Given the description of an element on the screen output the (x, y) to click on. 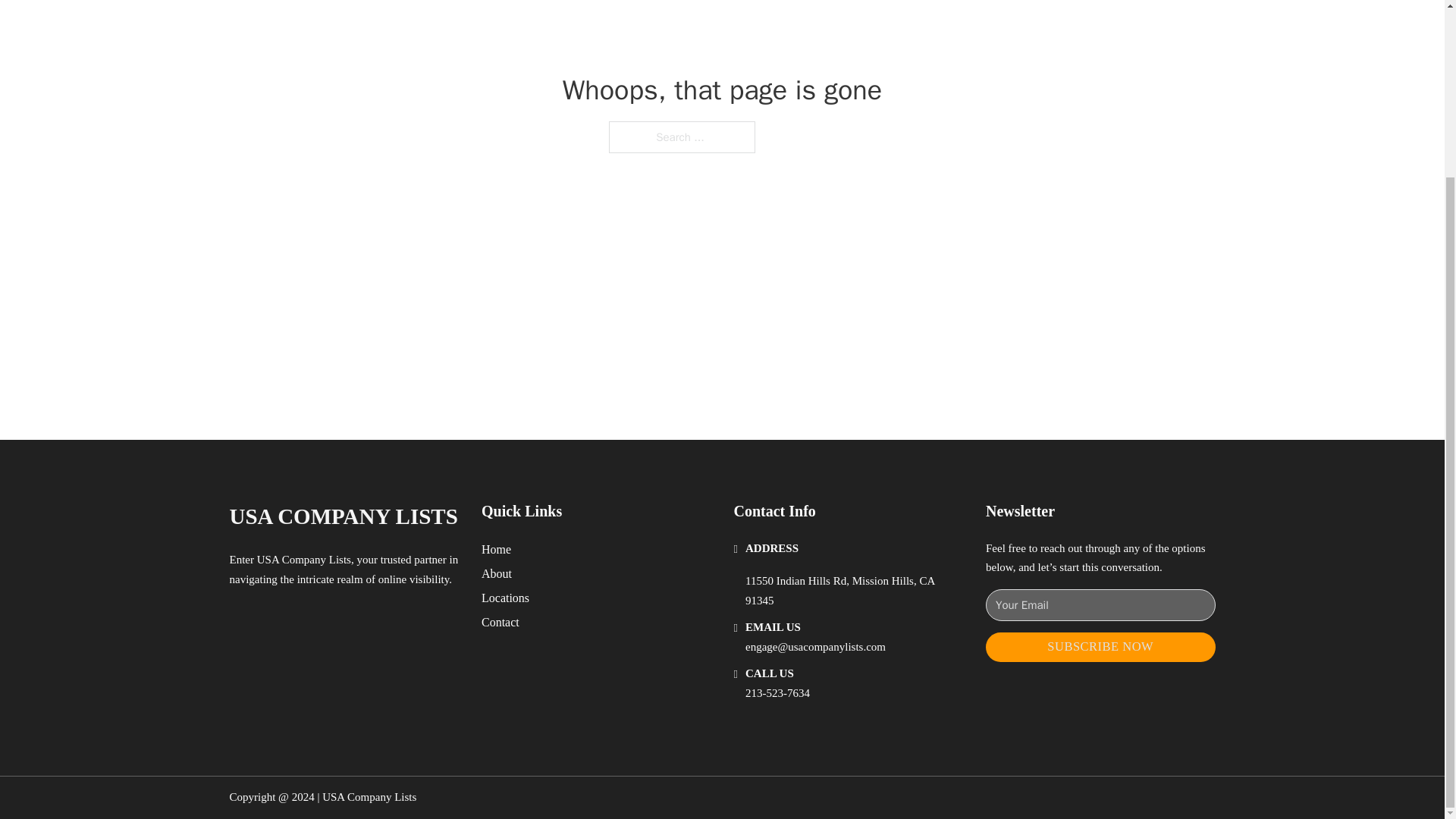
USA COMPANY LISTS (342, 516)
Home (496, 548)
213-523-7634 (777, 693)
SUBSCRIBE NOW (1100, 646)
Contact (500, 621)
Locations (505, 598)
About (496, 573)
